Given the description of an element on the screen output the (x, y) to click on. 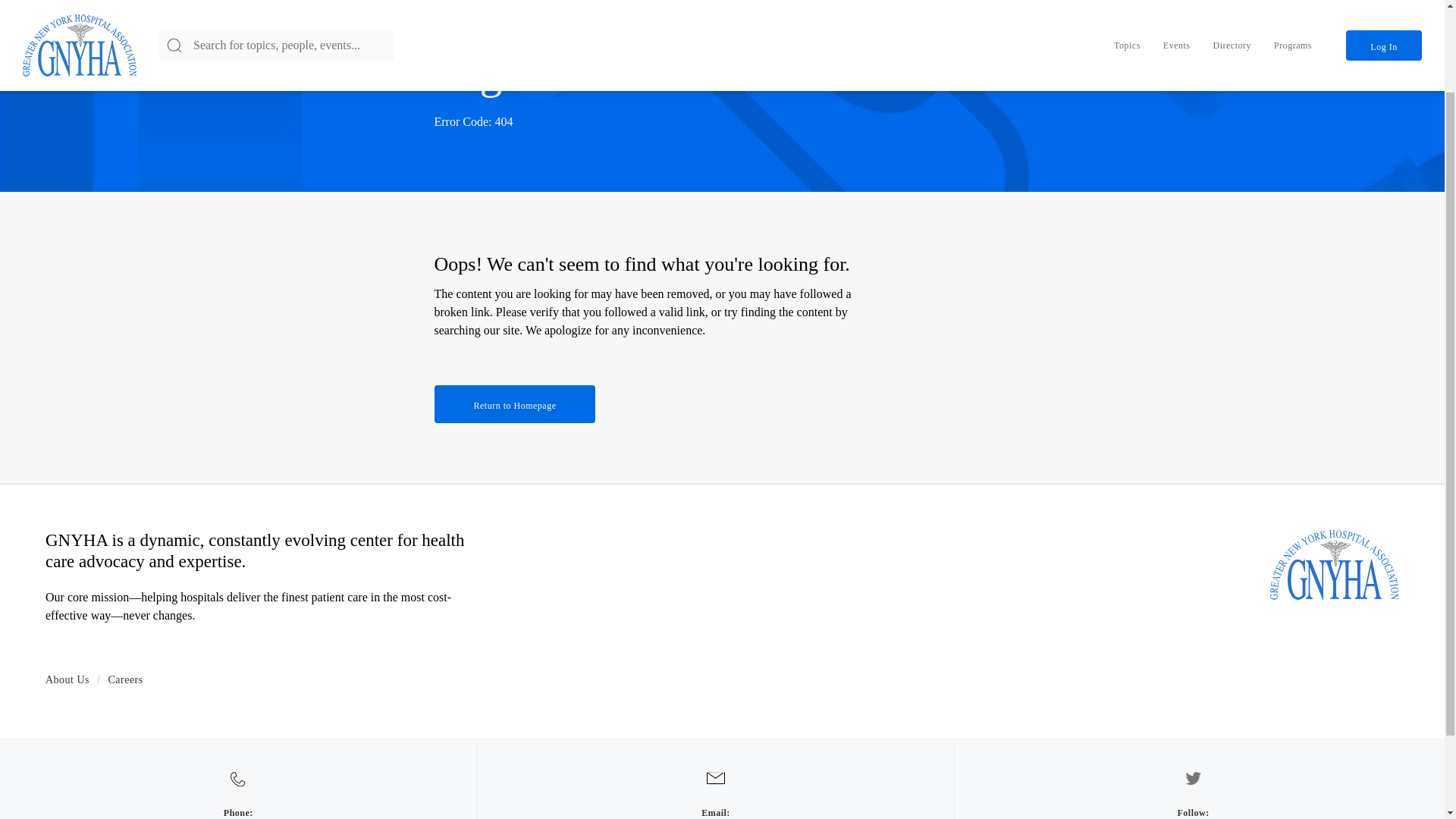
Home (1334, 564)
Careers (124, 679)
About Us (66, 679)
Return to Homepage (514, 403)
